Given the description of an element on the screen output the (x, y) to click on. 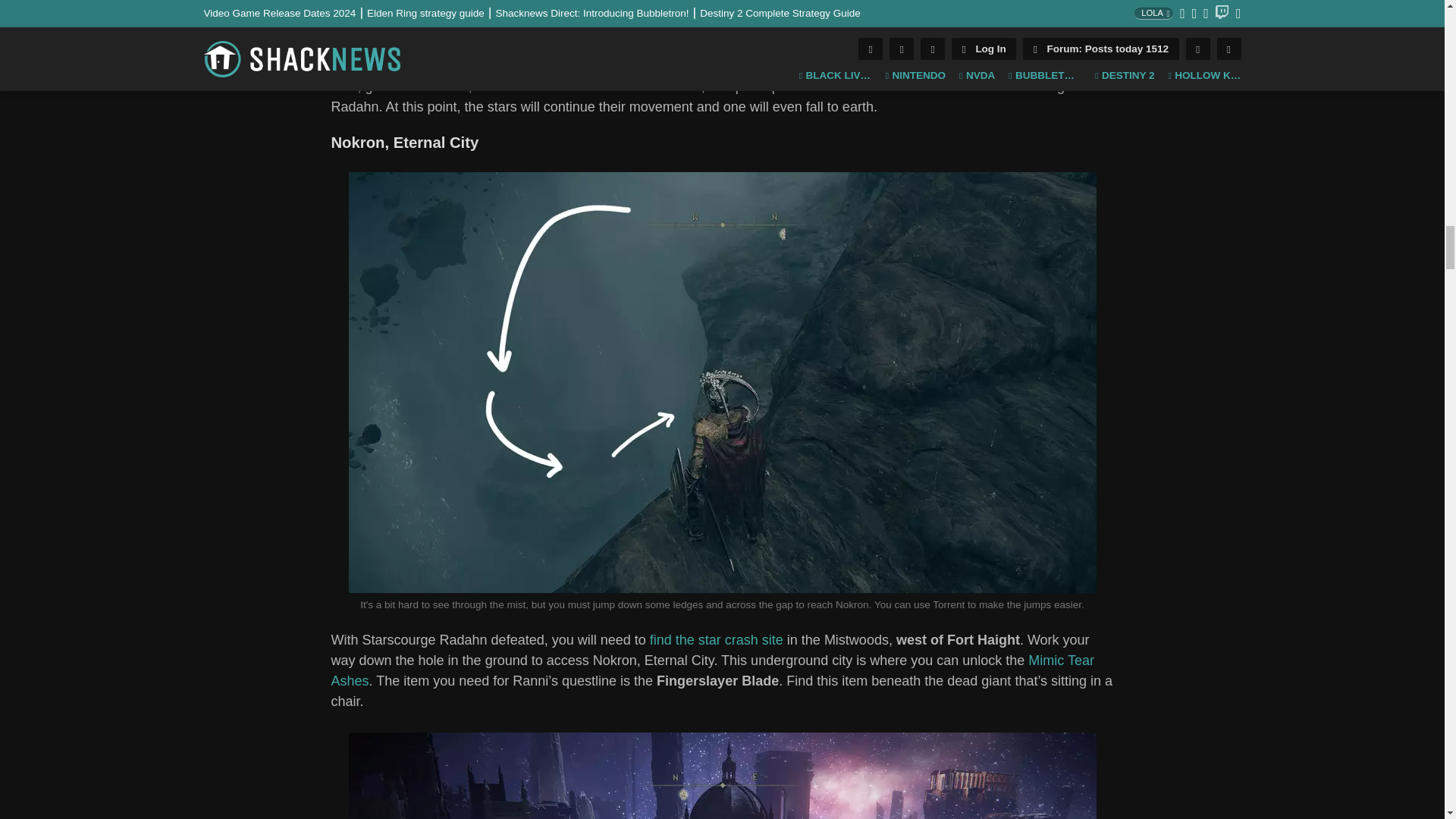
elden ring ranni the witch questline guide (722, 19)
